Given the description of an element on the screen output the (x, y) to click on. 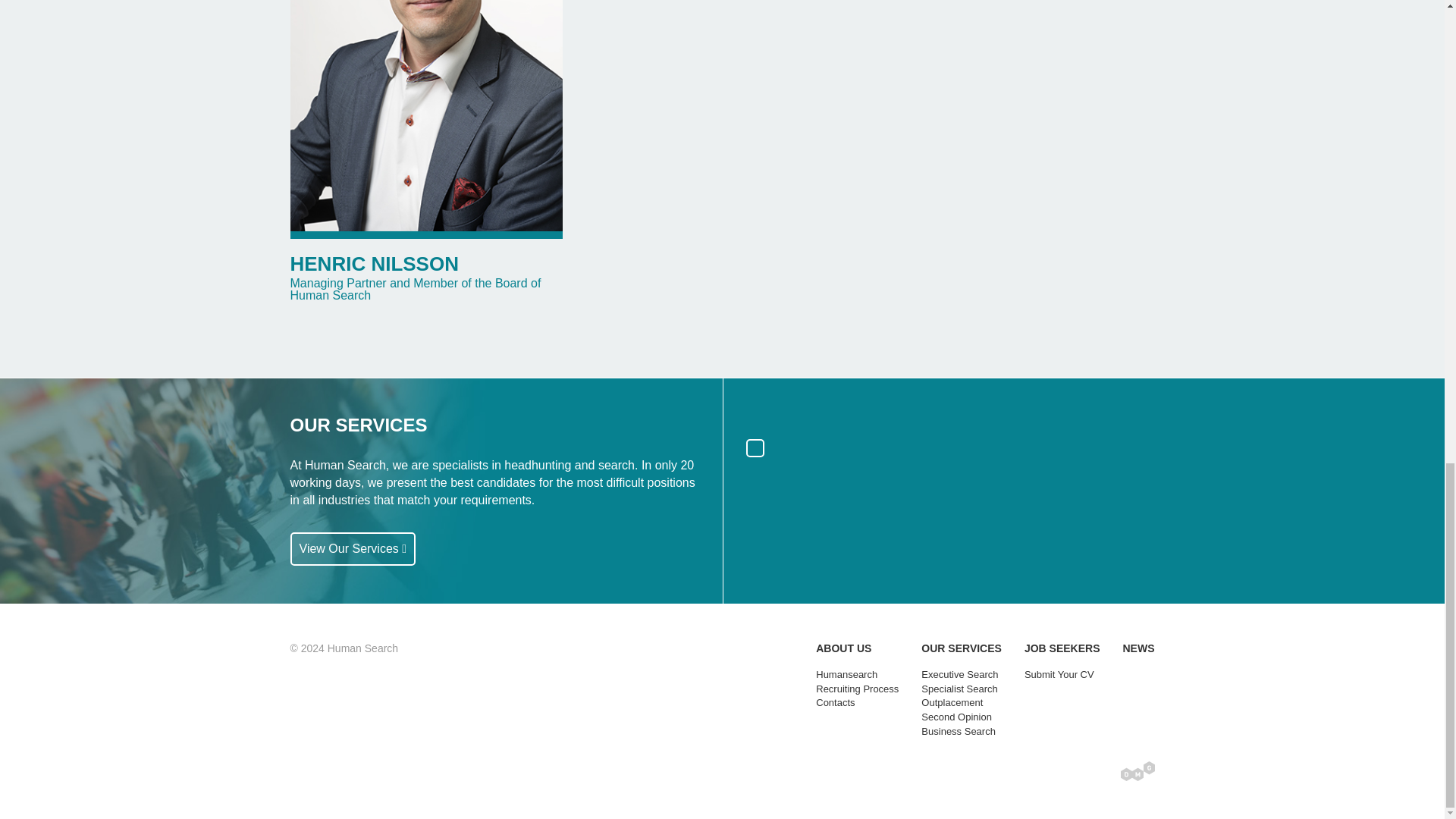
Contacts (834, 702)
View Our Services (351, 548)
Outplacement (951, 702)
Recruiting Process (856, 688)
Executive Search (959, 674)
ABOUT US (842, 648)
Humansearch (846, 674)
Our Services (351, 548)
Specialist Search (959, 688)
Digital Marketing Group (1137, 771)
OUR SERVICES (961, 648)
